Given the description of an element on the screen output the (x, y) to click on. 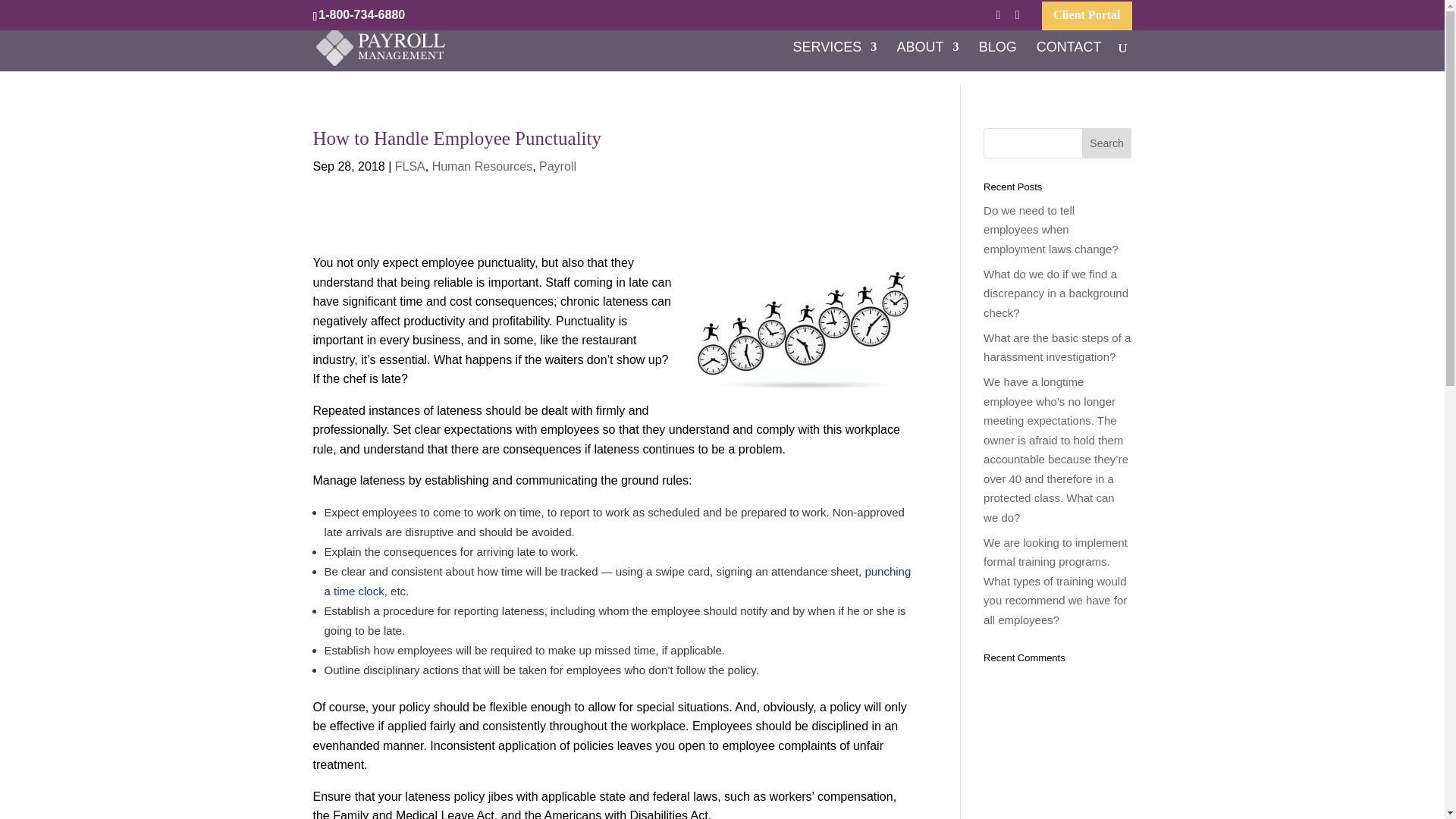
Search (1106, 142)
punching a time clock (617, 580)
Client Portal (1085, 19)
CONTACT (1069, 56)
Payroll (557, 164)
Human Resources (482, 164)
Search (1106, 142)
ABOUT (927, 56)
FLSA (409, 164)
Do we need to tell employees when employment laws change? (1051, 229)
SERVICES (835, 56)
What are the basic steps of a harassment investigation? (1057, 347)
BLOG (997, 56)
